Given the description of an element on the screen output the (x, y) to click on. 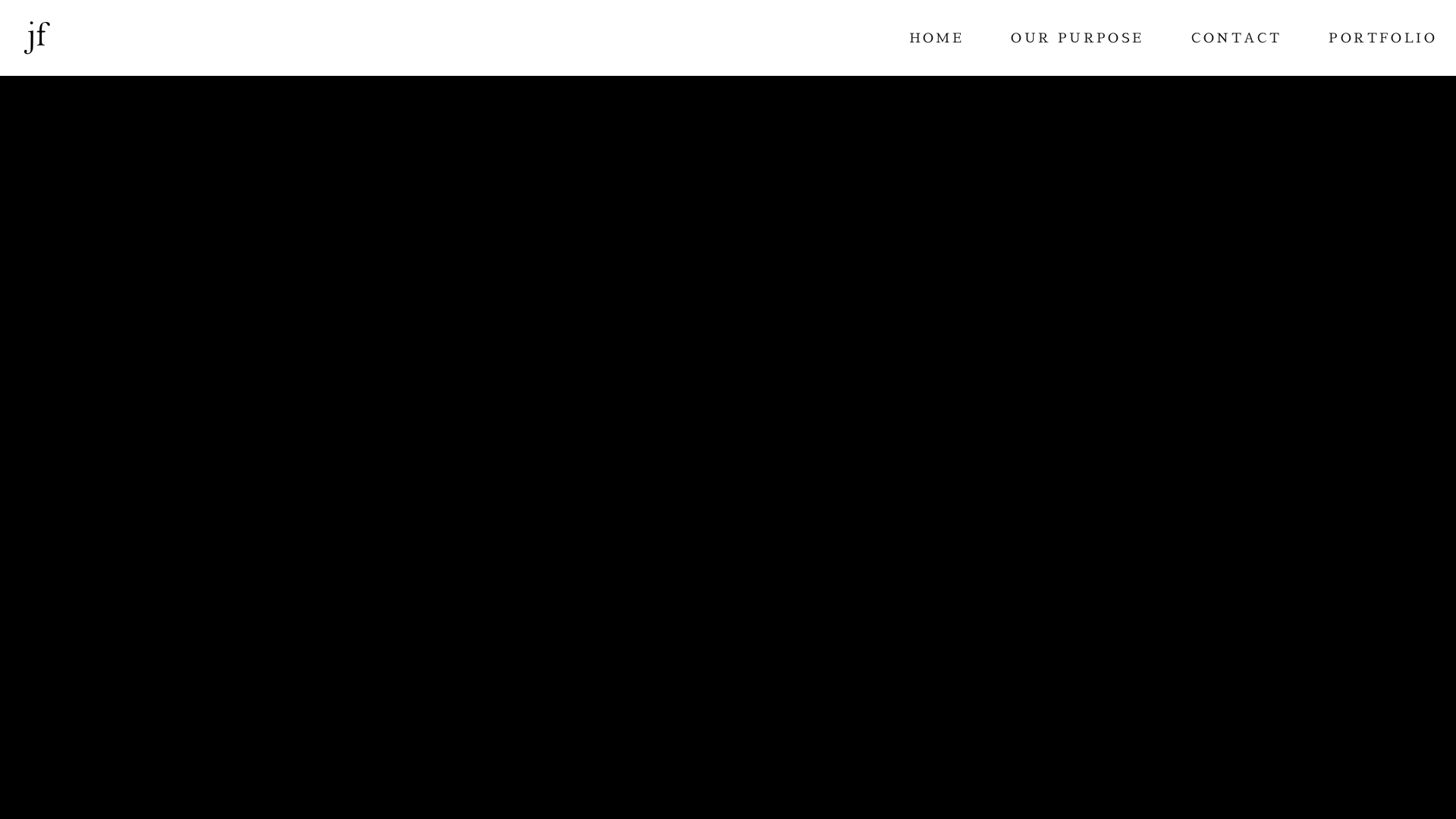
PORTFOLIO Element type: text (1382, 37)
OUR PURPOSE Element type: text (1076, 37)
HOME Element type: text (936, 37)
CONTACT Element type: text (1236, 37)
